Given the description of an element on the screen output the (x, y) to click on. 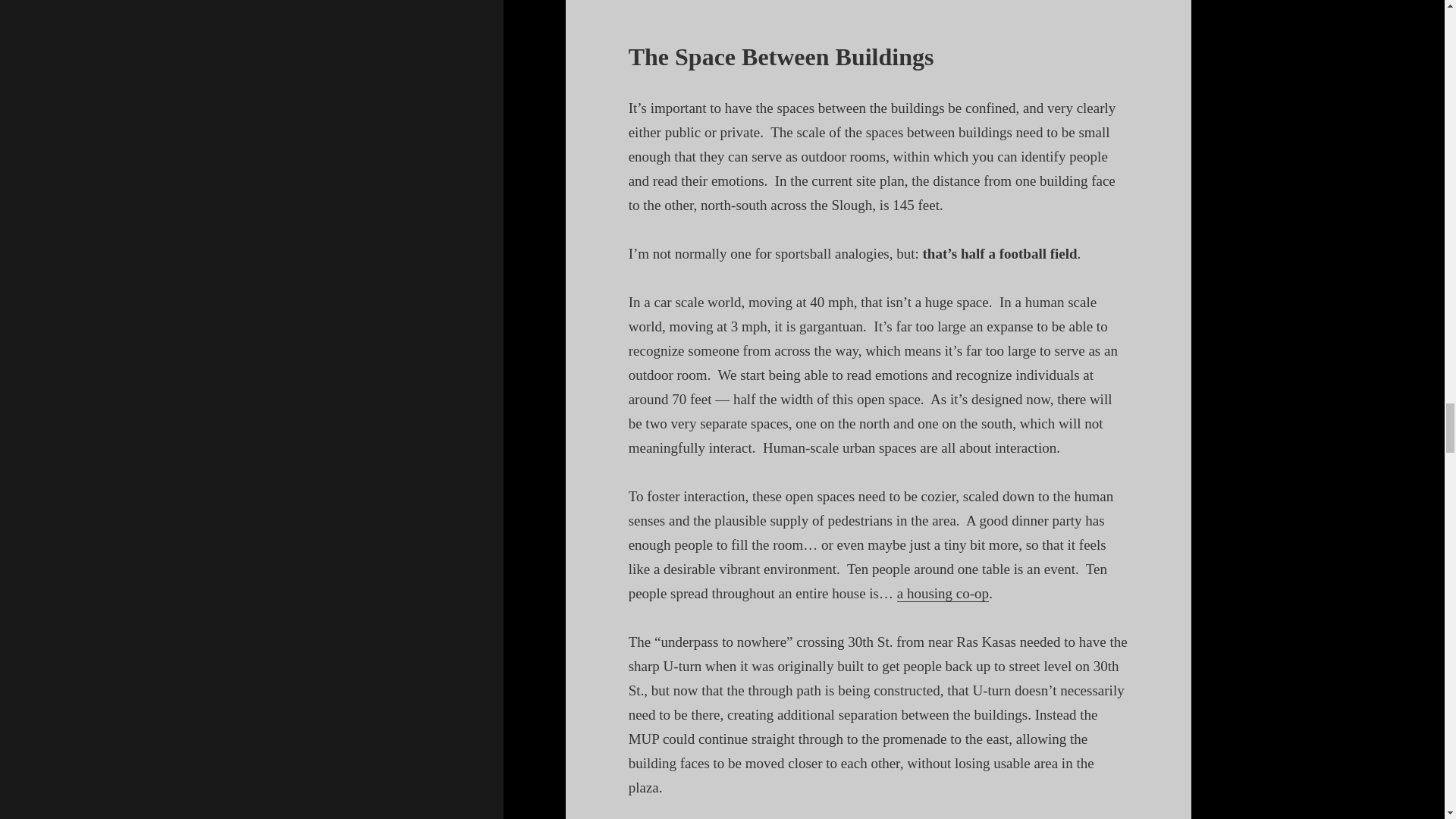
a housing co-op (942, 593)
